Given the description of an element on the screen output the (x, y) to click on. 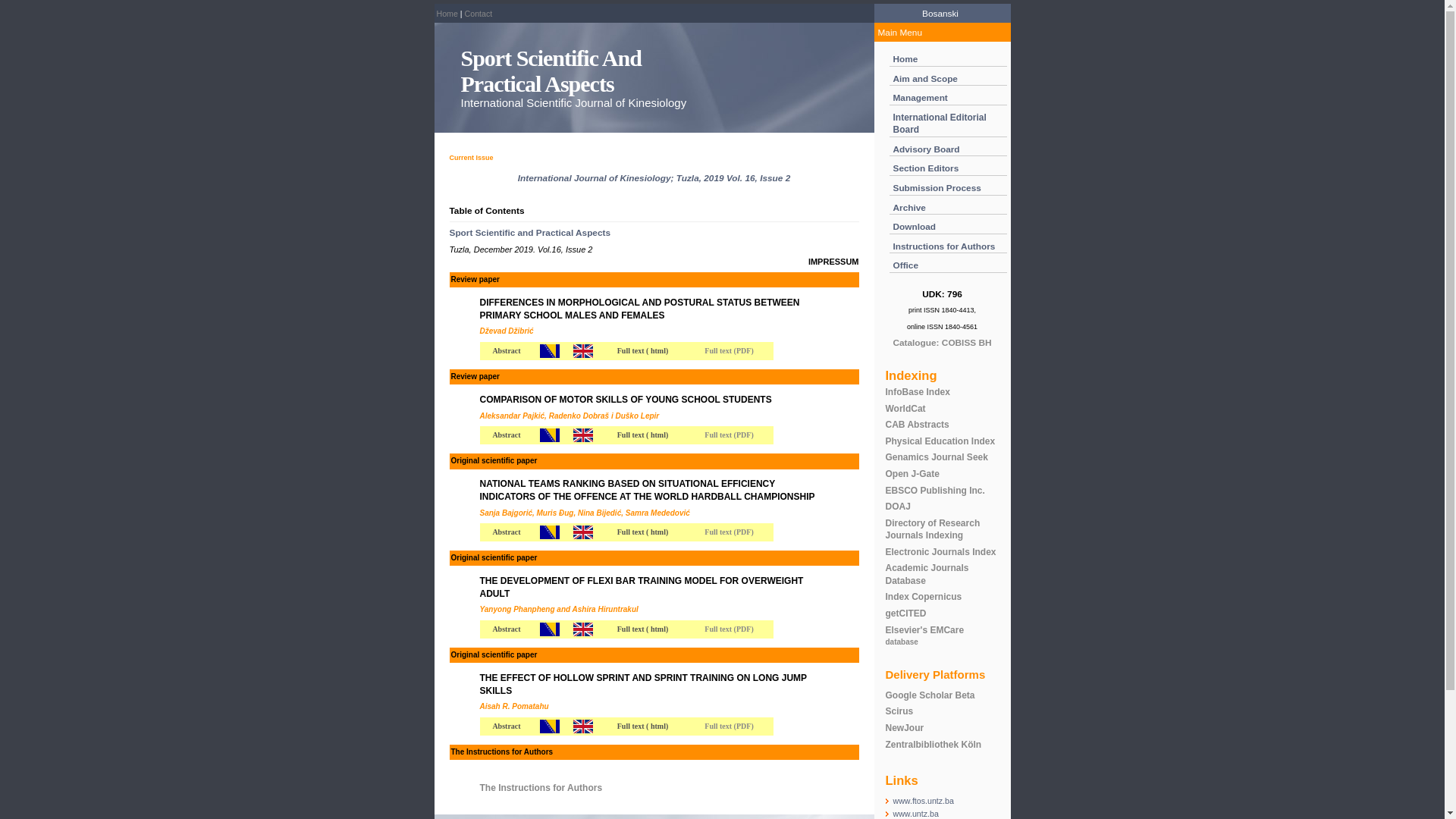
Home Element type: text (905, 58)
Full text (PDF) Element type: text (728, 434)
Management Element type: text (920, 97)
Genamics Journal Seek Element type: text (936, 456)
Archive Element type: text (909, 206)
International Editorial Board Element type: text (939, 123)
Physical Education Index Element type: text (940, 441)
Full text (PDF) Element type: text (728, 725)
Contact Element type: text (478, 13)
Google Scholar Beta Element type: text (930, 695)
Full text (PDF) Element type: text (728, 628)
Download Element type: text (914, 226)
Advisory Board Element type: text (926, 149)
EBSCO Publishing Inc. Element type: text (935, 490)
Catalogue: COBISS BH Element type: text (941, 342)
Electronic Journals Index Element type: text (940, 551)
CAB Abstracts Element type: text (917, 424)
The Instructions for Authors Element type: text (540, 787)
DOAJ Element type: text (897, 506)
Instructions for Authors Element type: text (944, 246)
Full text (PDF) Element type: text (728, 531)
Submission Process Element type: text (937, 187)
NewJour Element type: text (904, 727)
Section Editors Element type: text (926, 168)
Home Element type: text (446, 13)
Open J-Gate Element type: text (912, 473)
Academic Journals Database Element type: text (927, 574)
getCITED Element type: text (905, 613)
InfoBase Index Element type: text (917, 391)
www.untz.ba Element type: text (915, 813)
Aim and Scope Element type: text (925, 78)
Scirus Element type: text (899, 711)
Index Copernicus Element type: text (923, 596)
www.ftos.untz.ba Element type: text (922, 800)
WorldCat Element type: text (905, 408)
Full text (PDF) Element type: text (728, 350)
Directory of Research Journals Indexing Element type: text (932, 529)
Office Element type: text (906, 265)
